Given the description of an element on the screen output the (x, y) to click on. 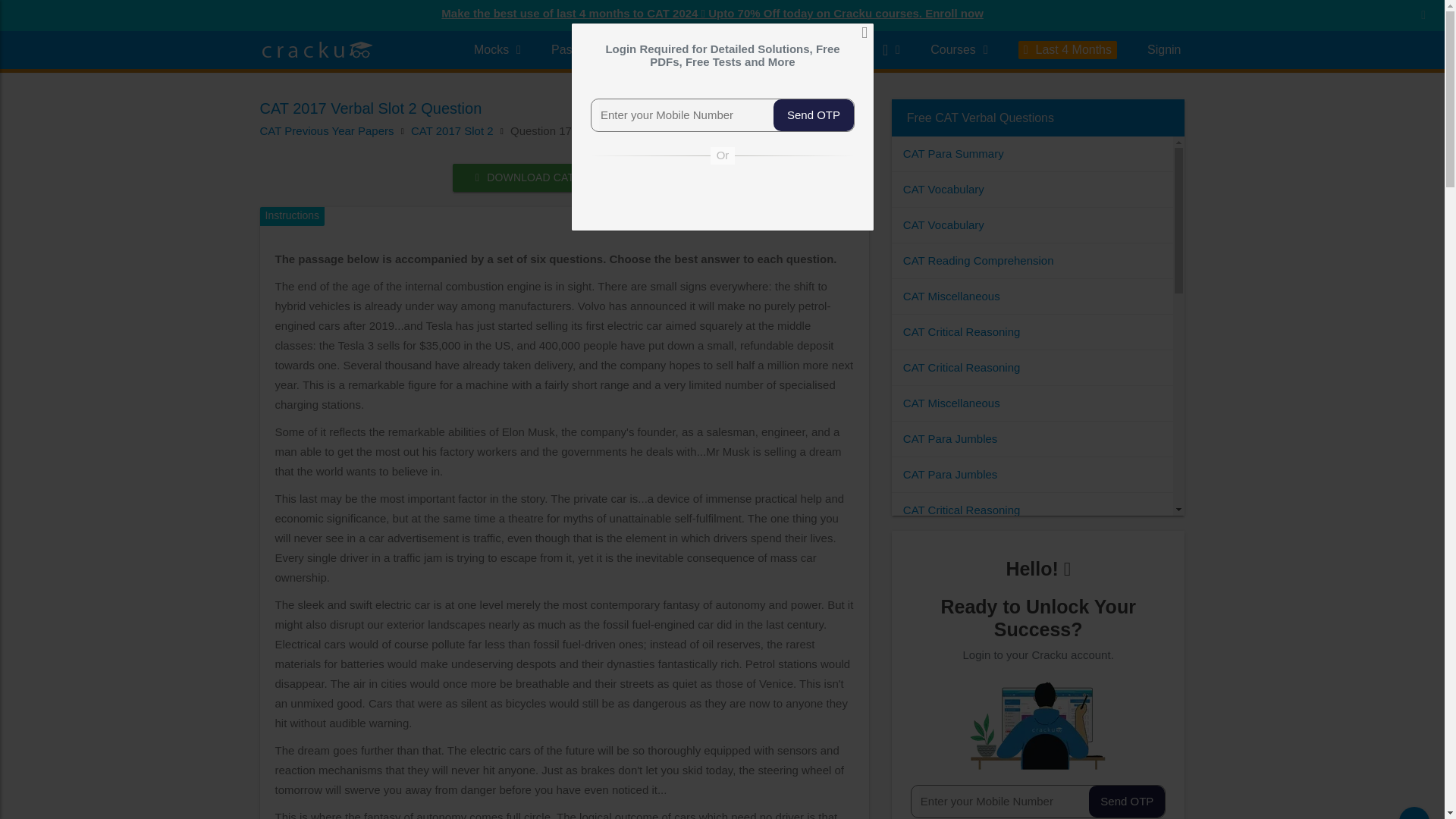
Past Papers (590, 49)
Learn (681, 49)
